Given the description of an element on the screen output the (x, y) to click on. 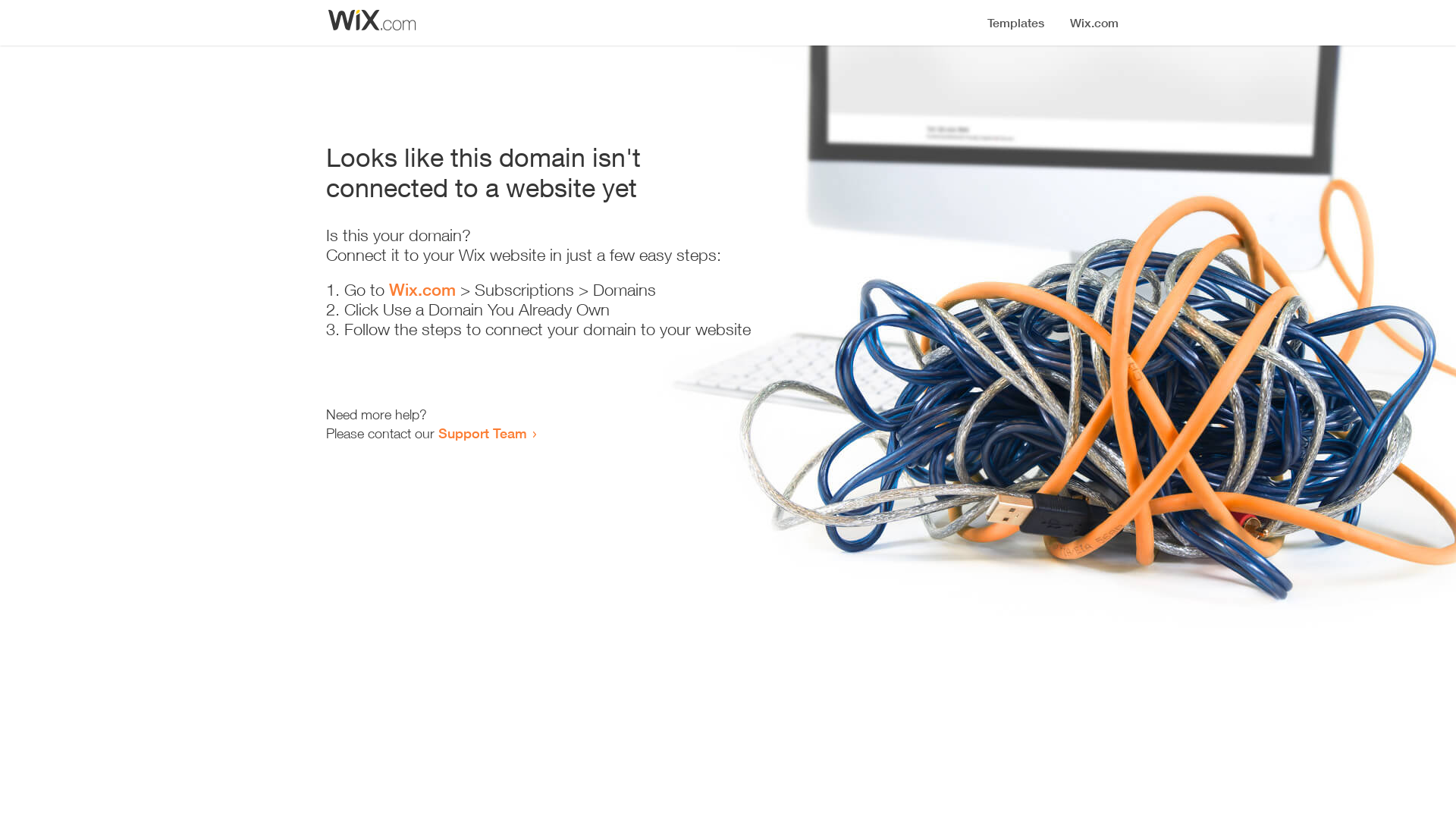
Wix.com Element type: text (422, 289)
Support Team Element type: text (482, 432)
